Given the description of an element on the screen output the (x, y) to click on. 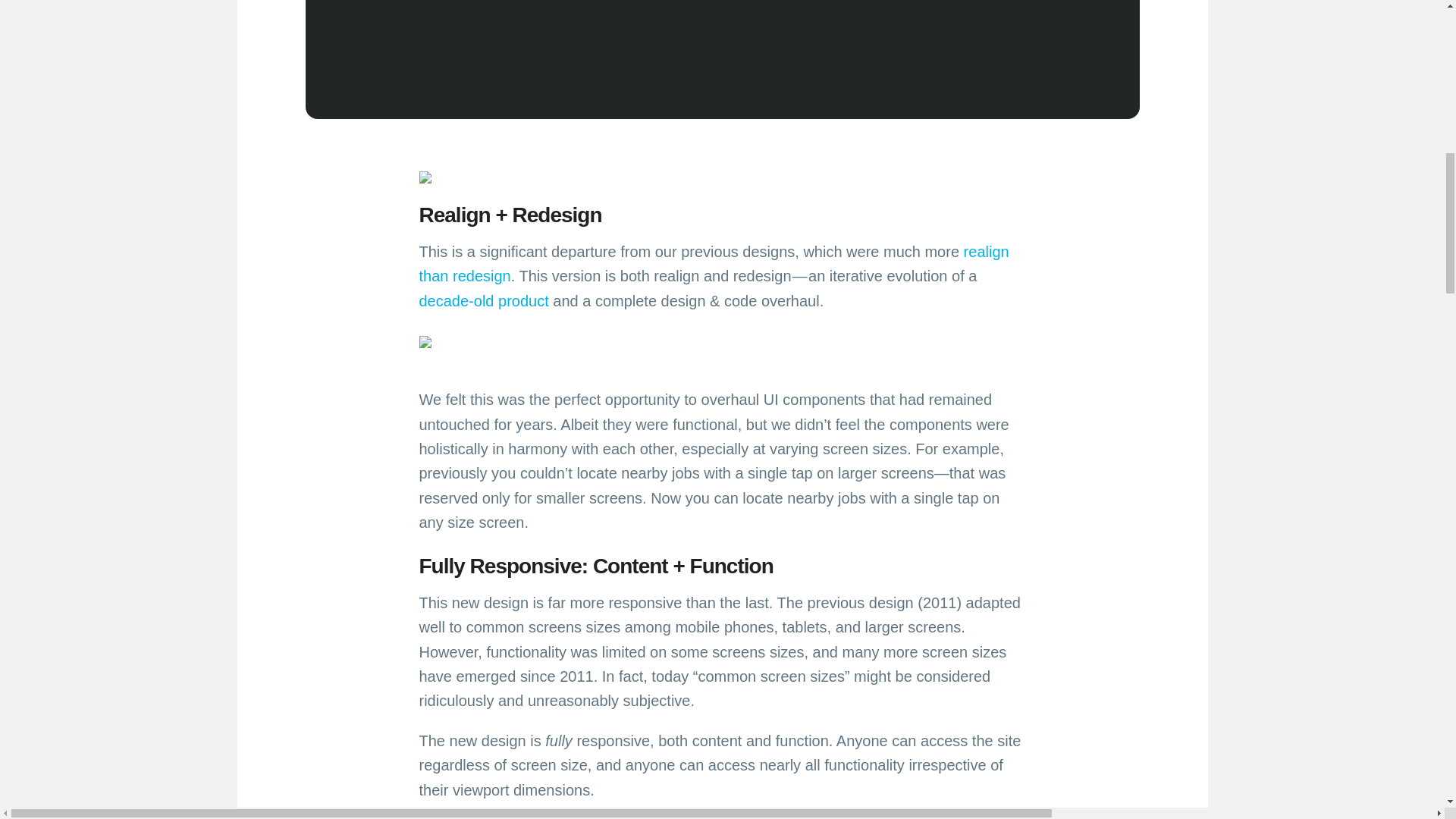
realign than redesign (714, 263)
decade-old product (483, 300)
